Given the description of an element on the screen output the (x, y) to click on. 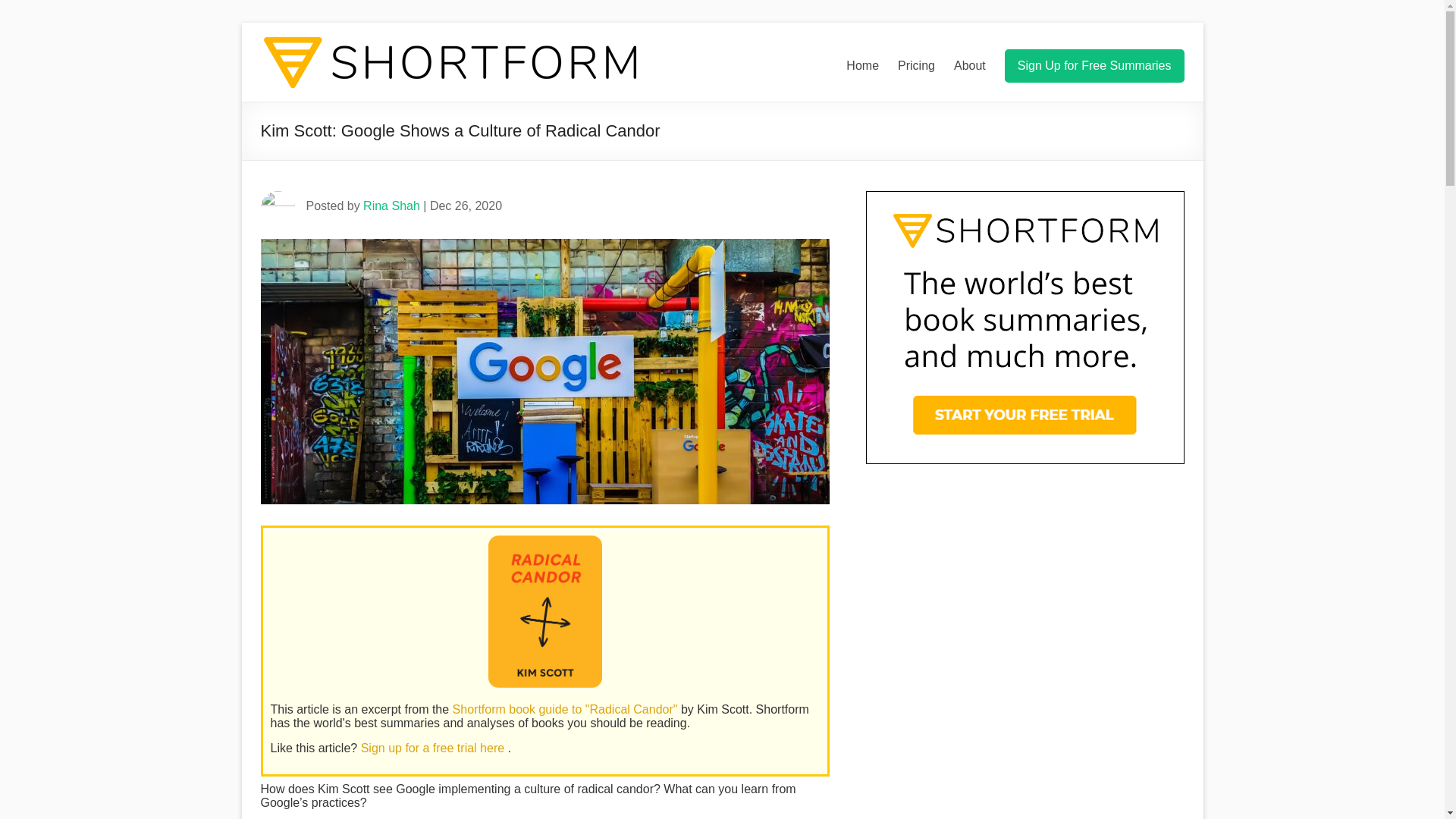
About (969, 65)
Pricing (916, 65)
Rina Shah (391, 205)
Home (862, 65)
Shortform book guide to "Radical Candor" (566, 708)
Sign up for a free trial here (434, 748)
Sign Up for Free Summaries (1094, 65)
